Given the description of an element on the screen output the (x, y) to click on. 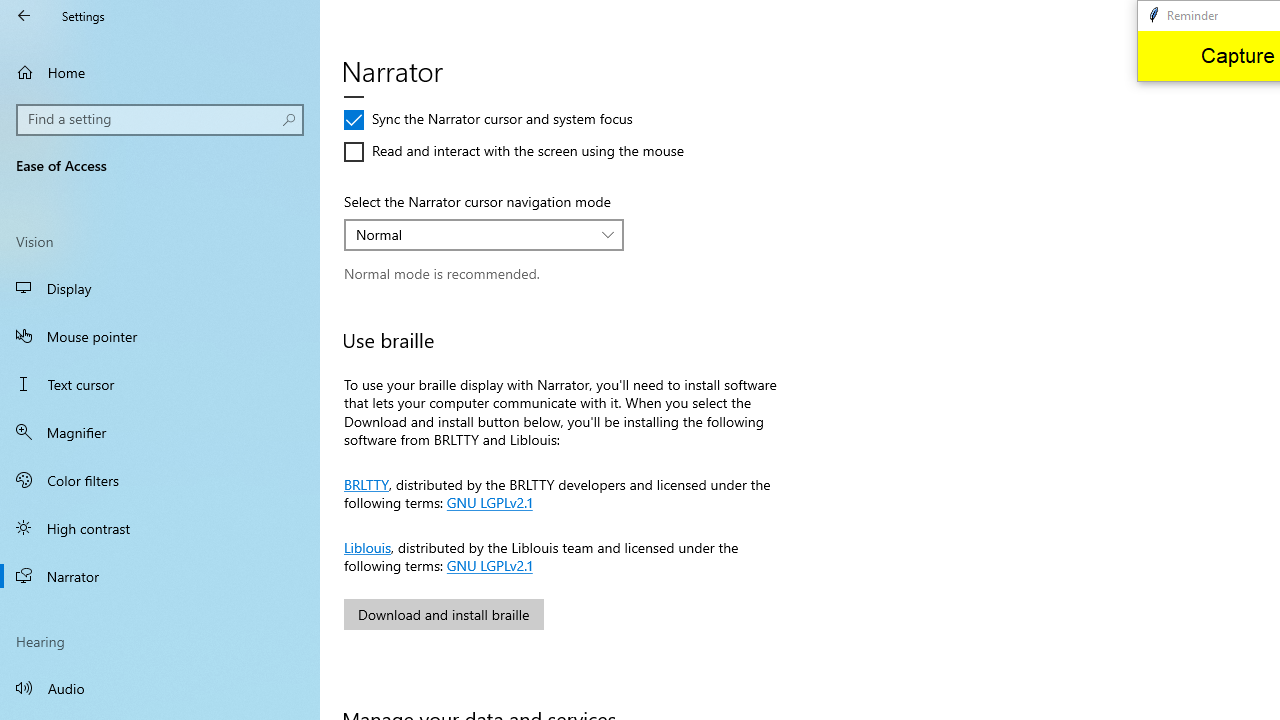
BRLTTY (365, 482)
Magnifier (160, 431)
Audio (160, 687)
Show the Narrator cursor (435, 56)
Color filters (160, 479)
Display (160, 287)
